Given the description of an element on the screen output the (x, y) to click on. 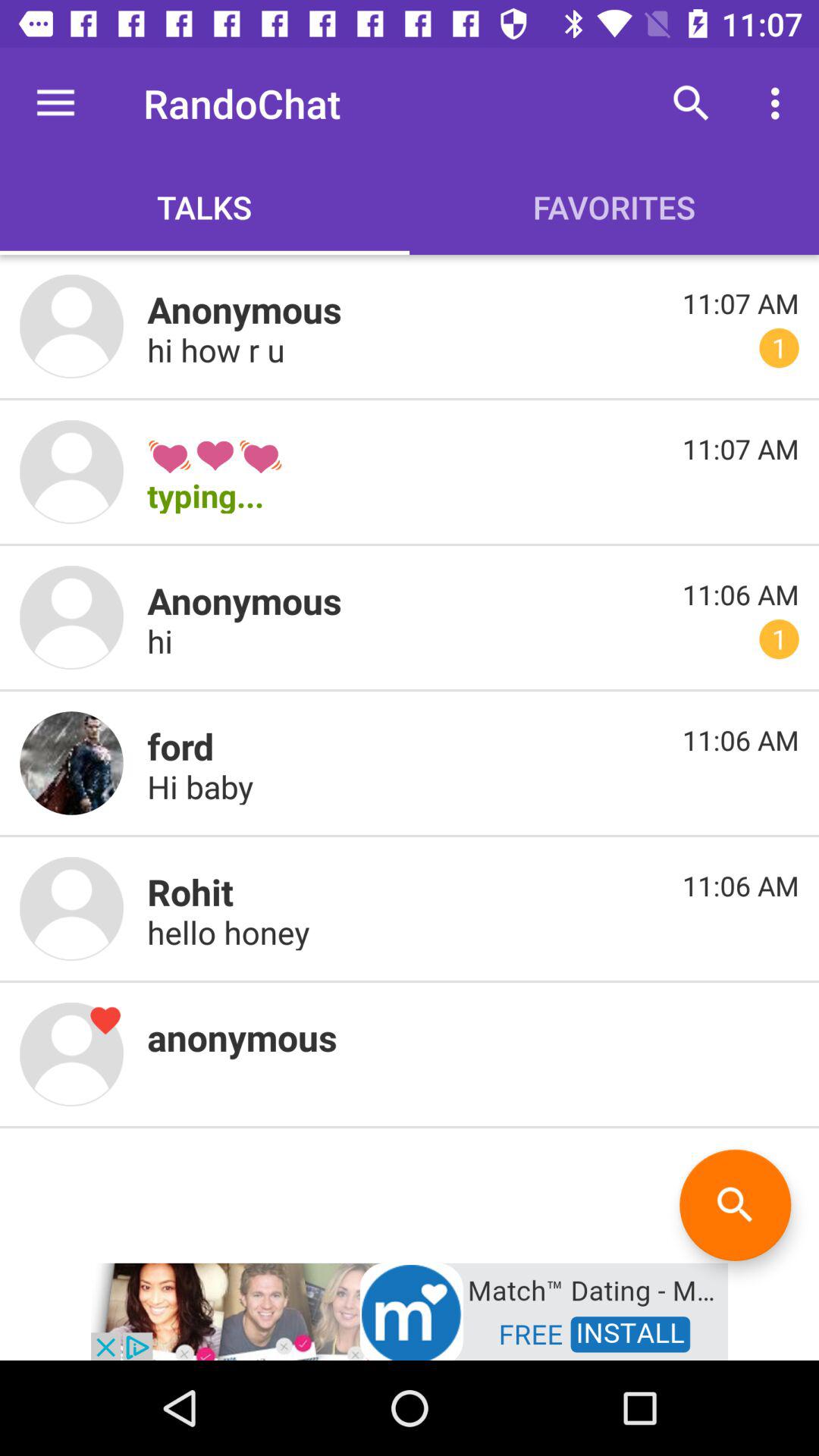
select anonymous (71, 1054)
